Given the description of an element on the screen output the (x, y) to click on. 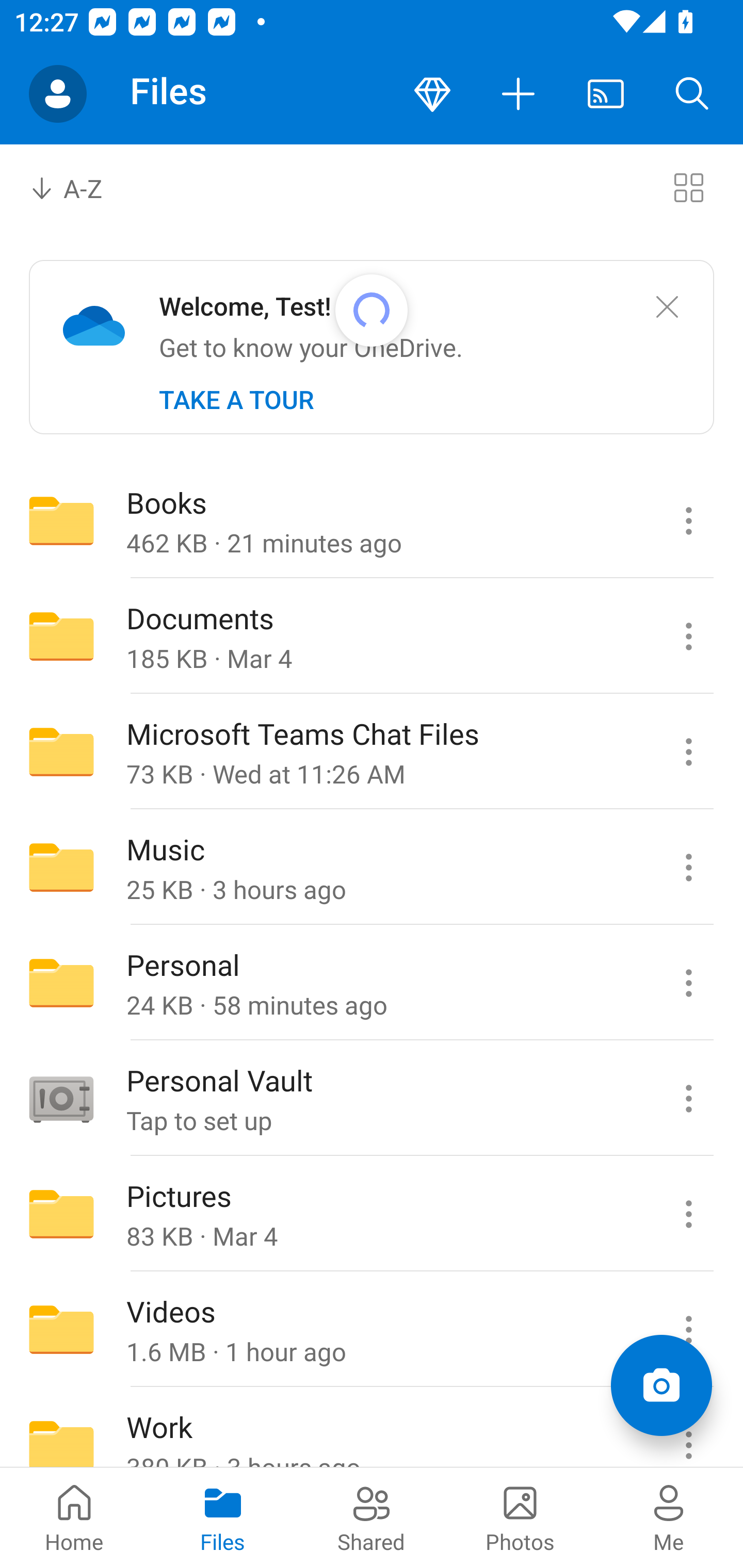
Account switcher (57, 93)
Cast. Disconnected (605, 93)
Premium button (432, 93)
More actions button (518, 93)
Search button (692, 93)
A-Z Sort by combo box, sort by name, A to Z (80, 187)
Switch to tiles view (688, 187)
Close (667, 307)
TAKE A TOUR (236, 399)
Books commands (688, 520)
Folder Documents 185 KB · Mar 4 Documents commands (371, 636)
Documents commands (688, 636)
Microsoft Teams Chat Files commands (688, 751)
Folder Music 25 KB · 3 hours ago Music commands (371, 867)
Music commands (688, 867)
Personal commands (688, 983)
Personal Vault commands (688, 1099)
Folder Pictures 83 KB · Mar 4 Pictures commands (371, 1214)
Pictures commands (688, 1214)
Folder Videos 1.6 MB · 1 hour ago Videos commands (371, 1329)
Videos commands (688, 1329)
Add items Scan (660, 1385)
Folder Work 380 KB · 3 hours ago Work commands (371, 1427)
Work commands (688, 1427)
Home pivot Home (74, 1517)
Shared pivot Shared (371, 1517)
Photos pivot Photos (519, 1517)
Me pivot Me (668, 1517)
